Given the description of an element on the screen output the (x, y) to click on. 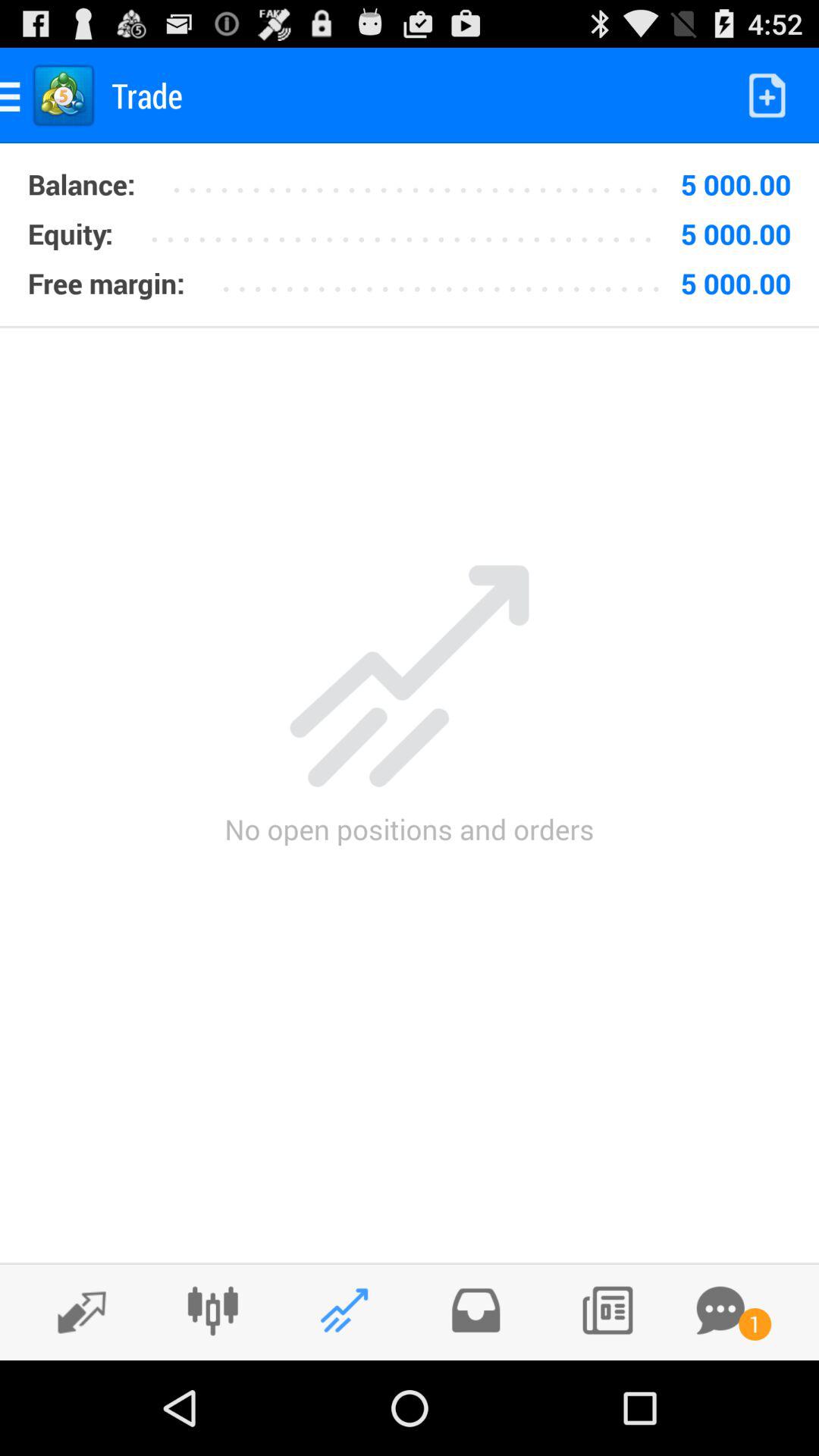
go to settings (212, 1310)
